Given the description of an element on the screen output the (x, y) to click on. 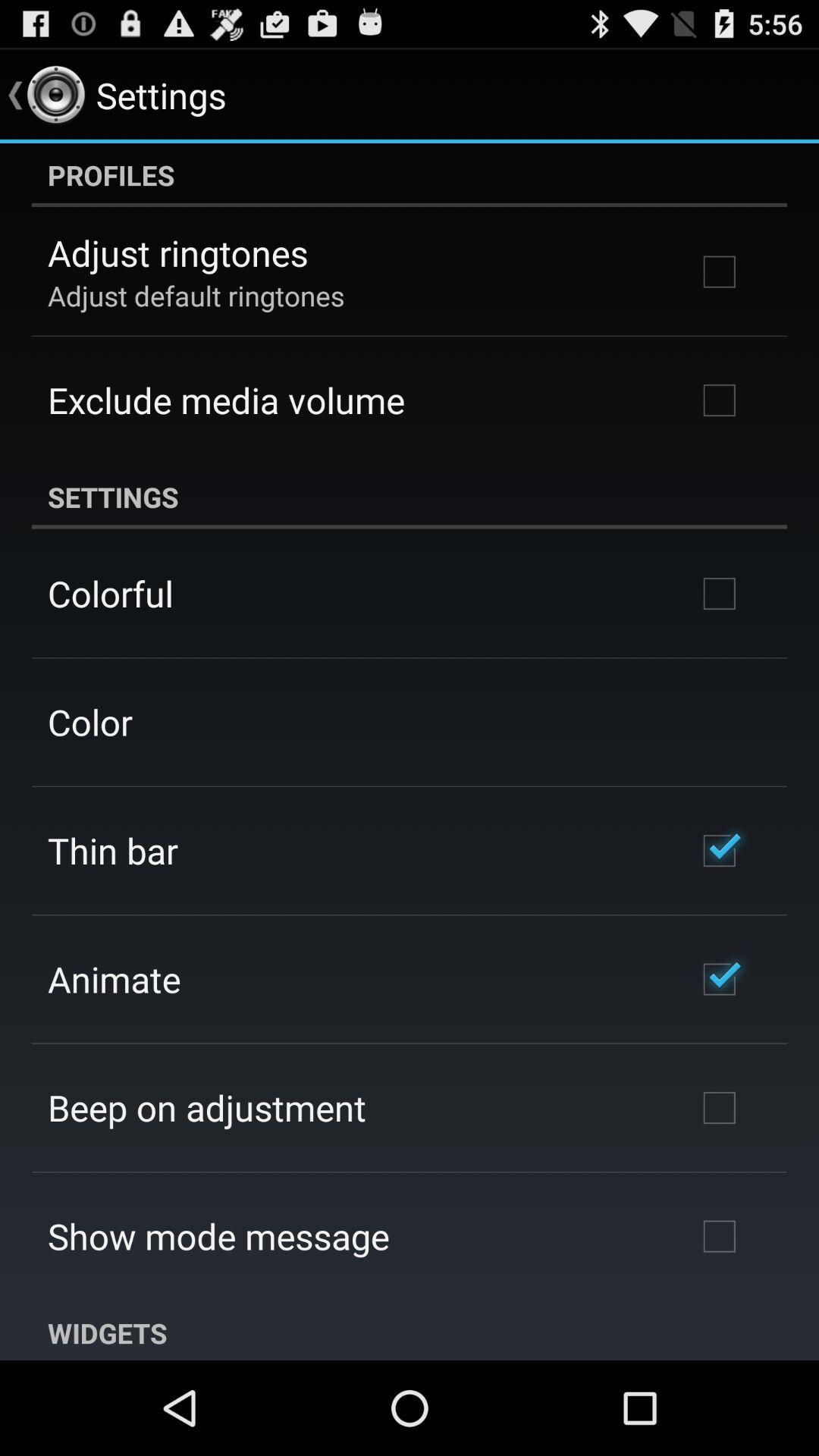
open icon above the animate (112, 850)
